Given the description of an element on the screen output the (x, y) to click on. 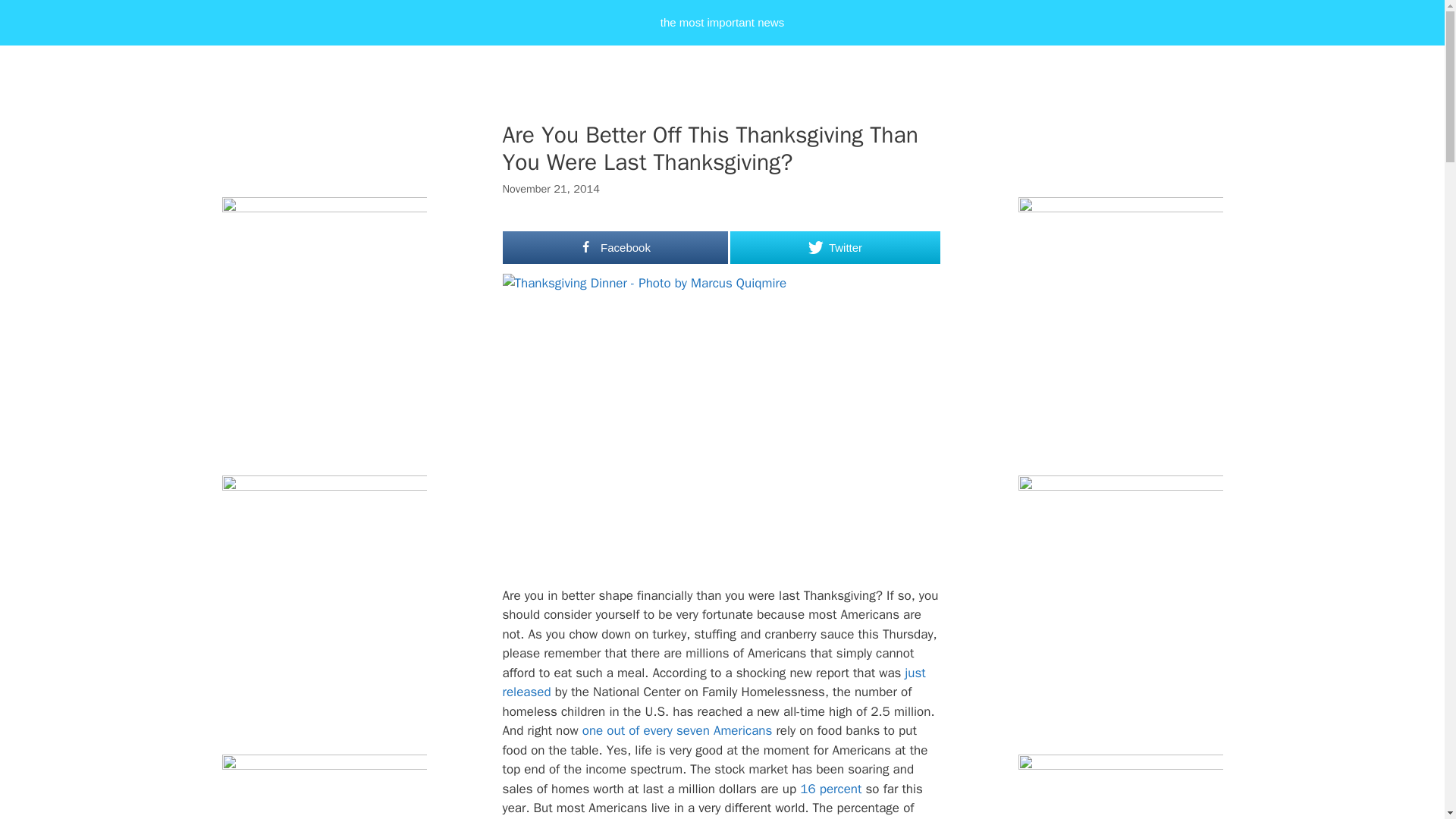
16 percent (830, 788)
Facebook (615, 246)
Facebook (615, 246)
the most important news (722, 22)
the most important news (722, 22)
just released (713, 682)
16 percent (830, 788)
Twitter (834, 246)
one out of every seven Americans (677, 730)
Twitter (834, 246)
